Given the description of an element on the screen output the (x, y) to click on. 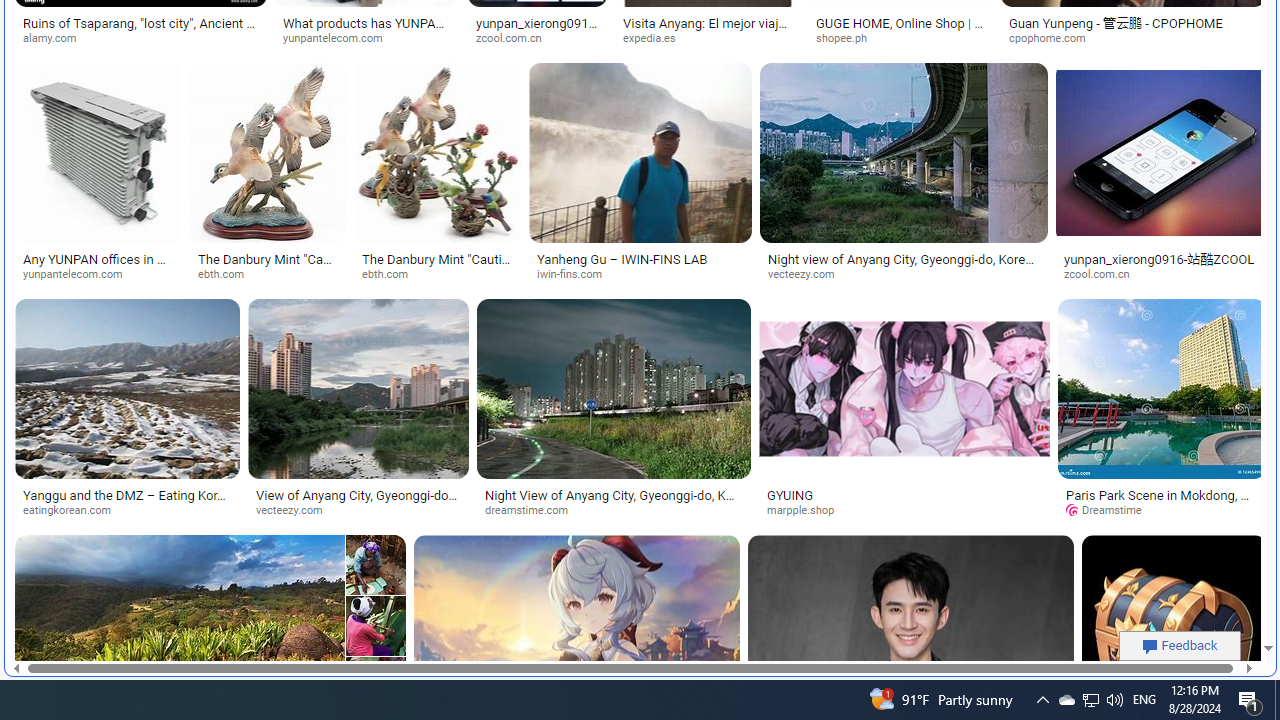
ebth.com (437, 274)
GYUING (790, 494)
cpophome.com (1133, 38)
GYUINGmarpple.shopSave (908, 412)
vecteezy.com (296, 509)
